Given the description of an element on the screen output the (x, y) to click on. 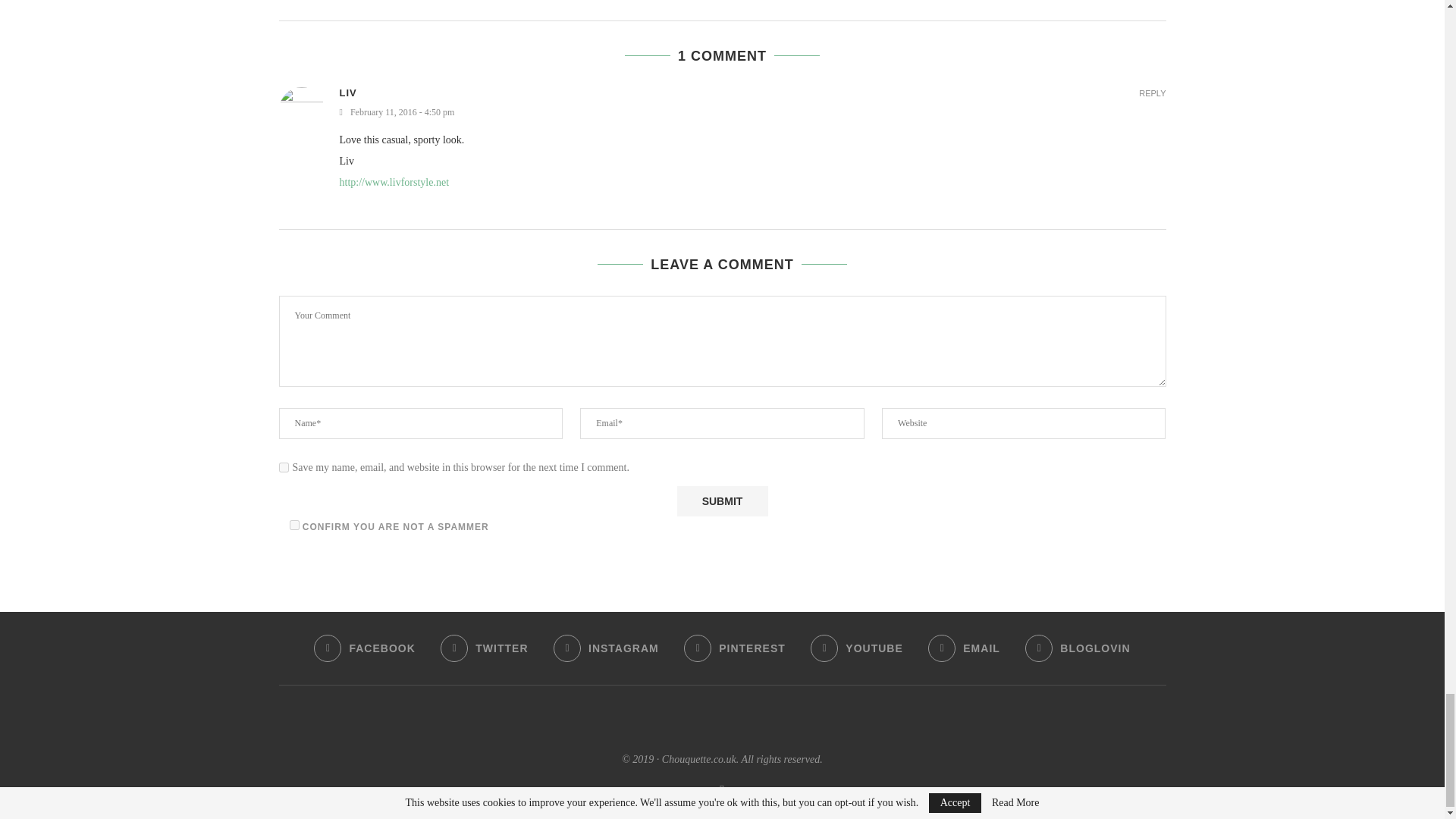
yes (283, 467)
Submit (722, 501)
on (294, 524)
